Given the description of an element on the screen output the (x, y) to click on. 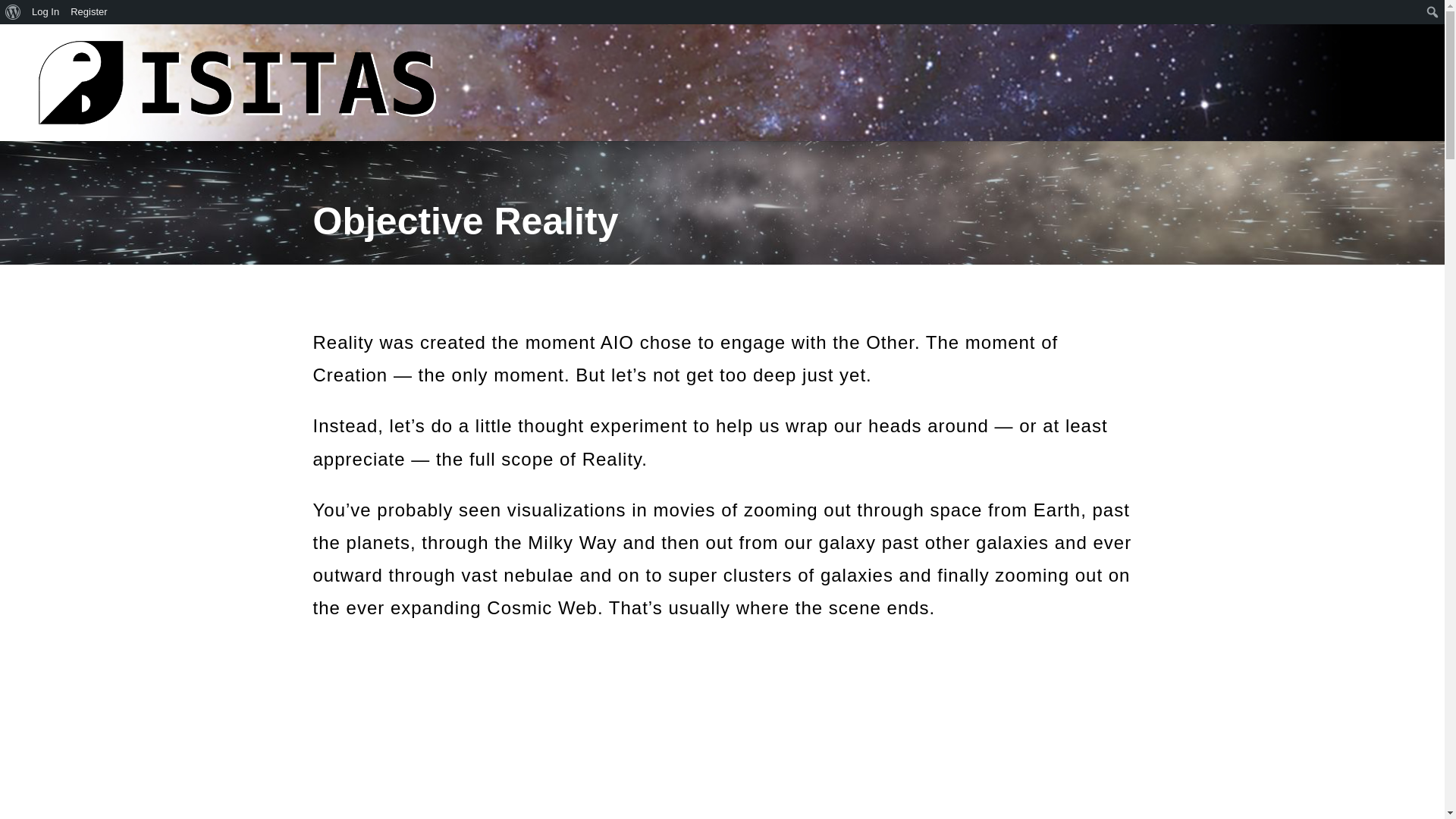
Register (89, 12)
Log In (45, 12)
Search (16, 13)
